Given the description of an element on the screen output the (x, y) to click on. 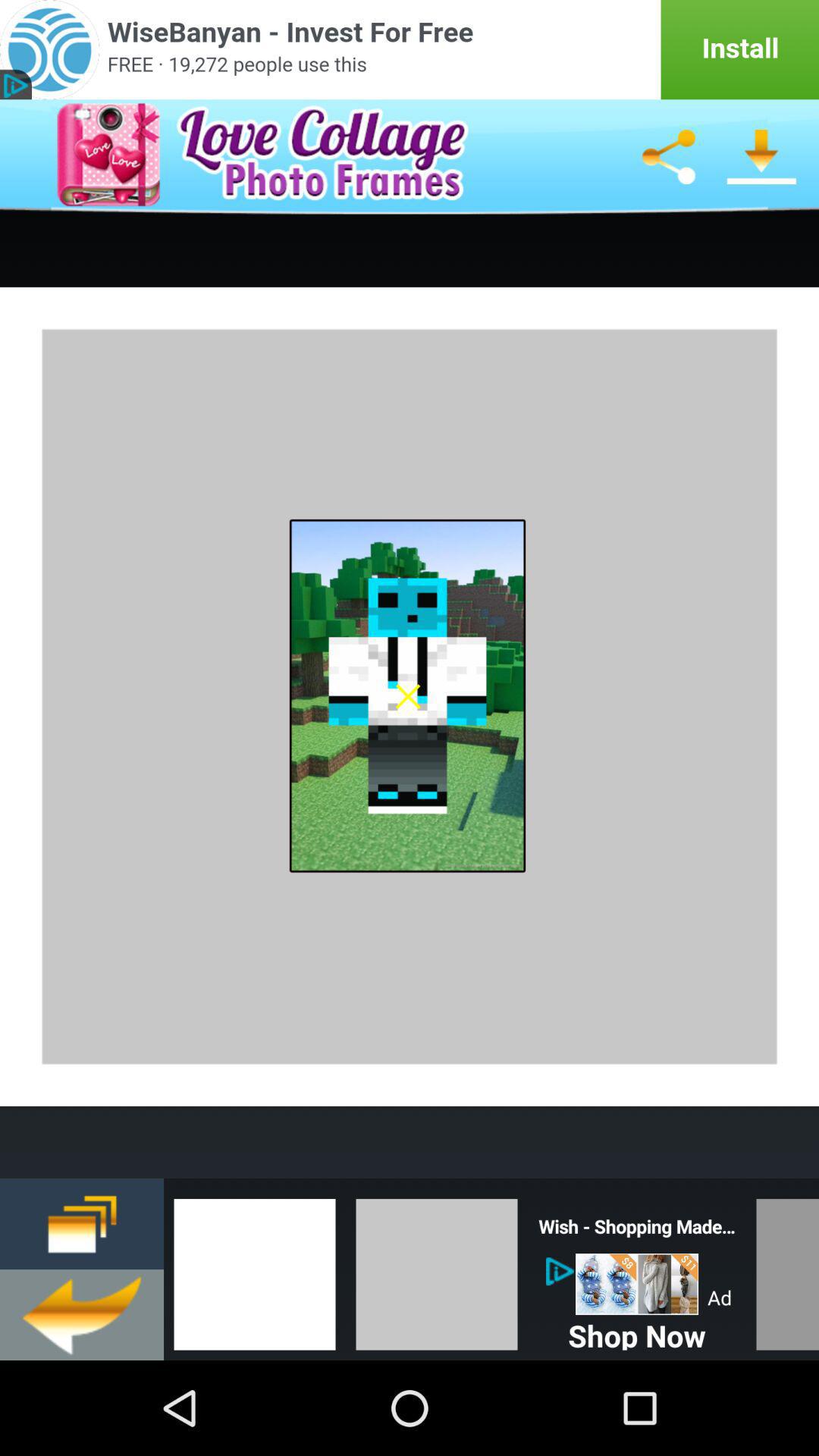
place yellow block (436, 1269)
